Given the description of an element on the screen output the (x, y) to click on. 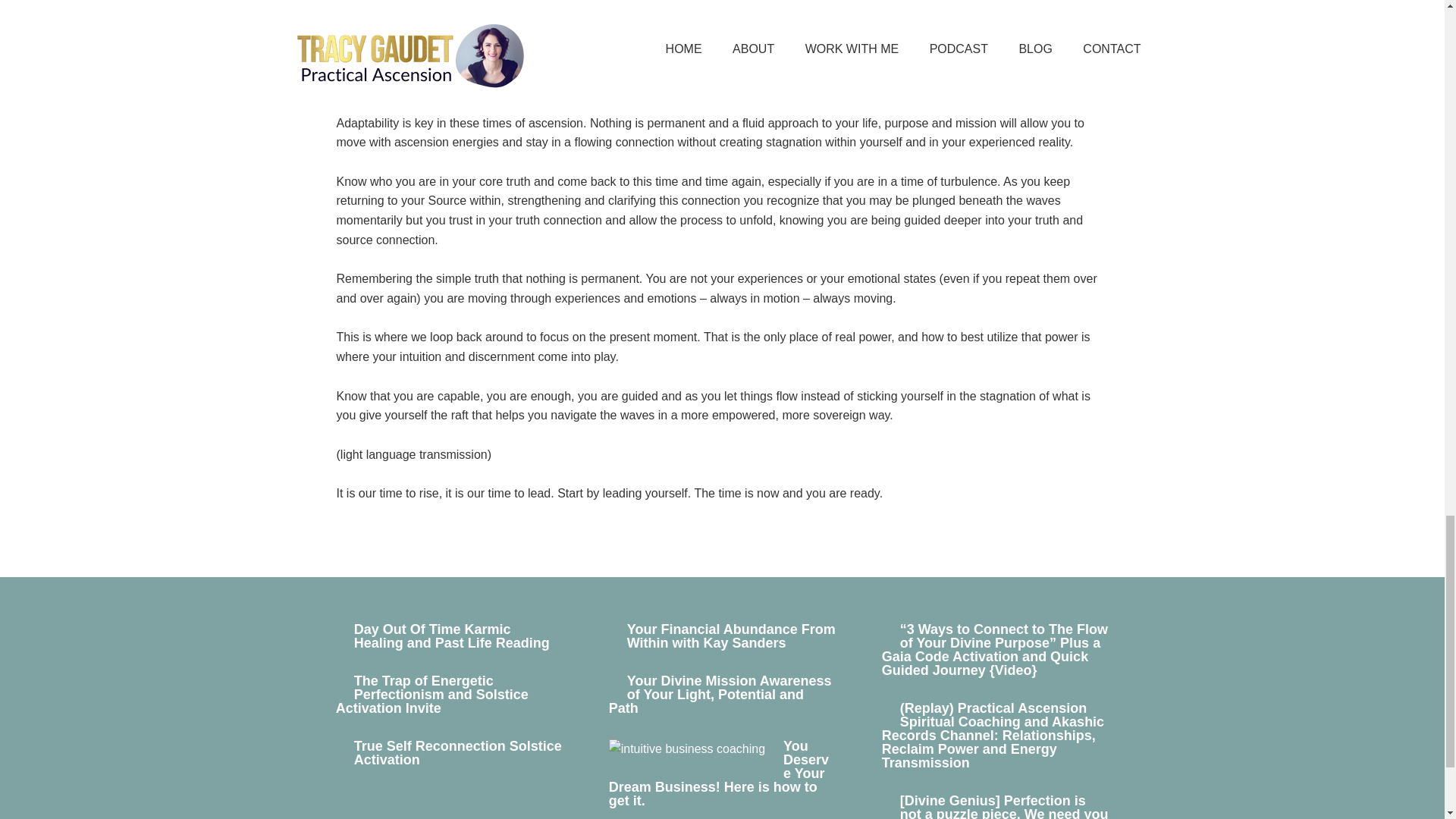
Day Out Of Time Karmic Healing and Past Life Reading (451, 635)
True Self Reconnection Solstice Activation (457, 752)
Your Financial Abundance From Within with Kay Sanders (731, 635)
You Deserve Your Dream Business! Here is how to get it. (718, 773)
